Given the description of an element on the screen output the (x, y) to click on. 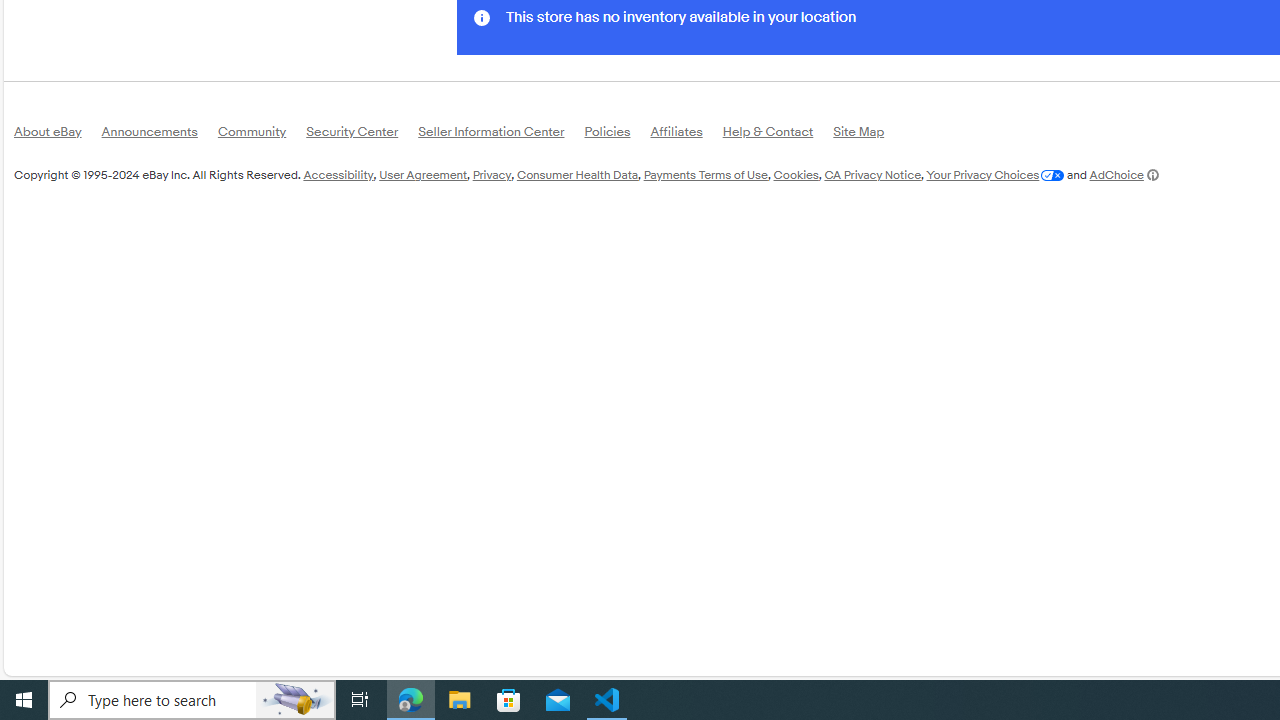
Security Center (361, 134)
Information (481, 16)
AdChoice (1123, 174)
Announcements (159, 134)
Help & Contact (777, 136)
Affiliates (686, 134)
Policies (617, 136)
Community (262, 136)
About eBay (58, 136)
Site Map (868, 134)
Consumer Health Data (576, 174)
Your Privacy Choices (994, 174)
Policies (617, 134)
